Given the description of an element on the screen output the (x, y) to click on. 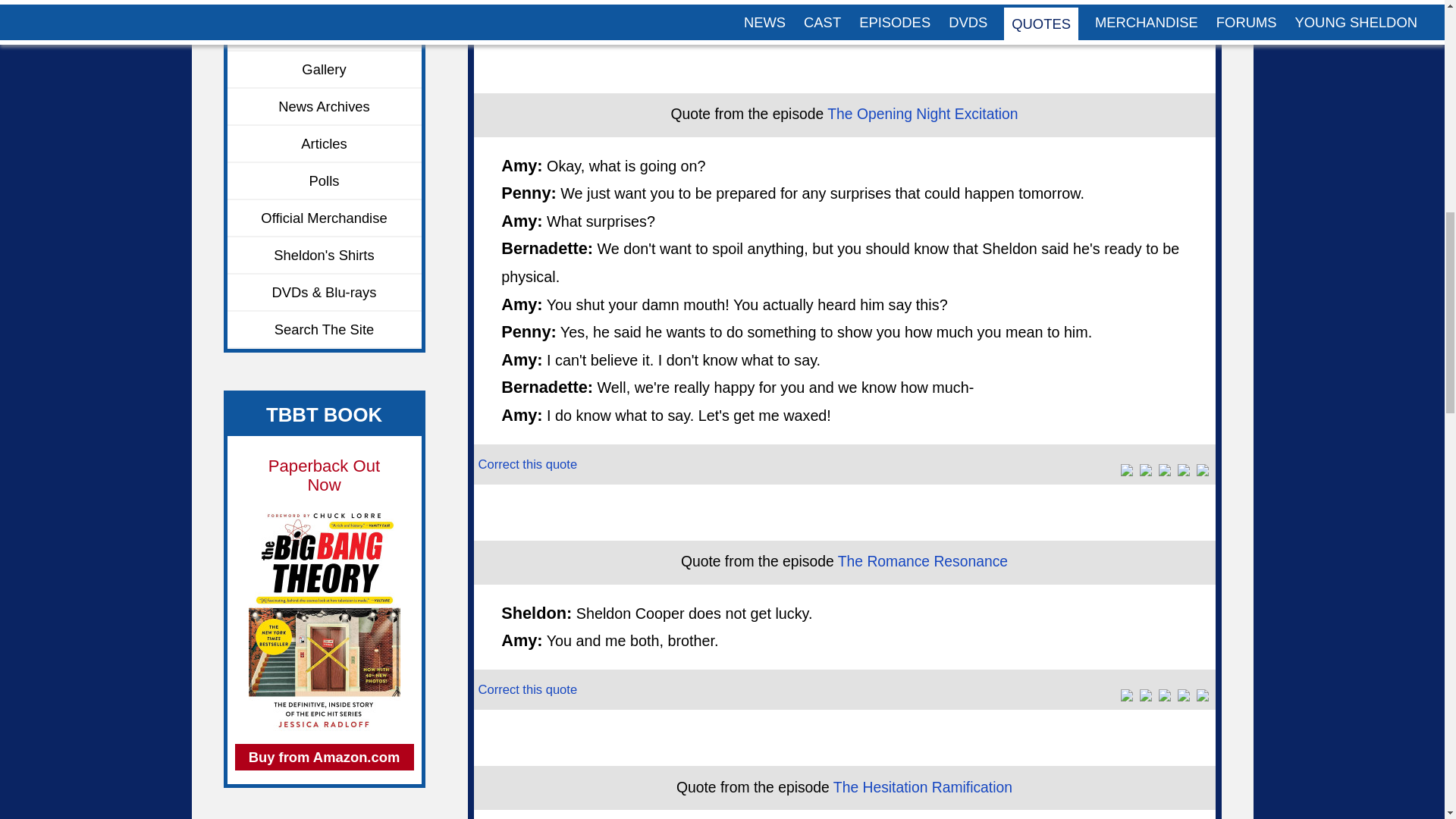
Official Merchandise (324, 218)
Young Sheldon (324, 32)
TBBT BOOK (323, 414)
Sheldon's Shirts (324, 255)
Gallery (324, 69)
News Archives (324, 107)
Crew (324, 7)
Articles (324, 144)
Polls (324, 180)
Buy from Amazon.com (323, 756)
Search The Site (324, 330)
